Given the description of an element on the screen output the (x, y) to click on. 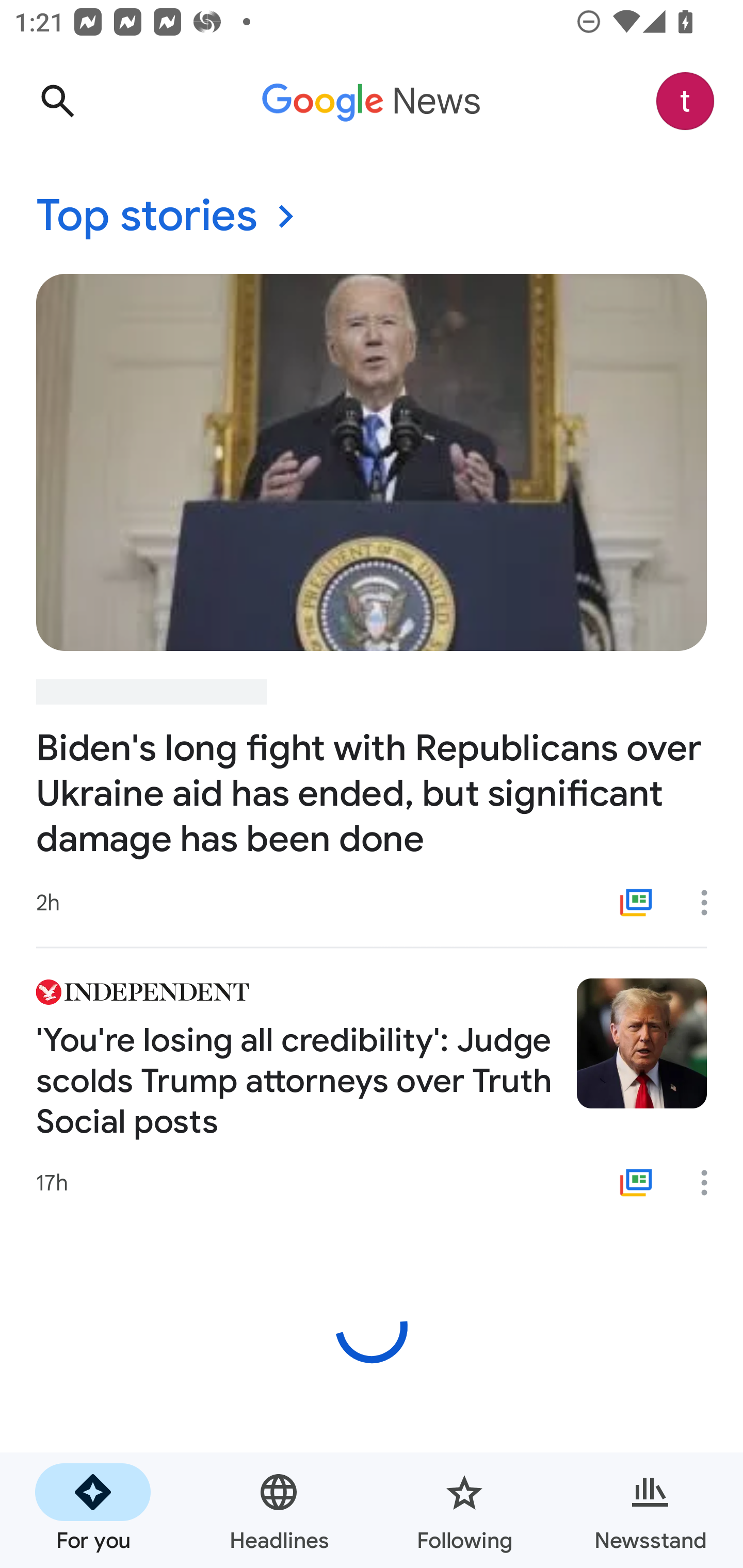
Search (57, 100)
Top stories (371, 216)
More options (711, 902)
More options (711, 1182)
For you (92, 1509)
Headlines (278, 1509)
Following (464, 1509)
Newsstand (650, 1509)
